Given the description of an element on the screen output the (x, y) to click on. 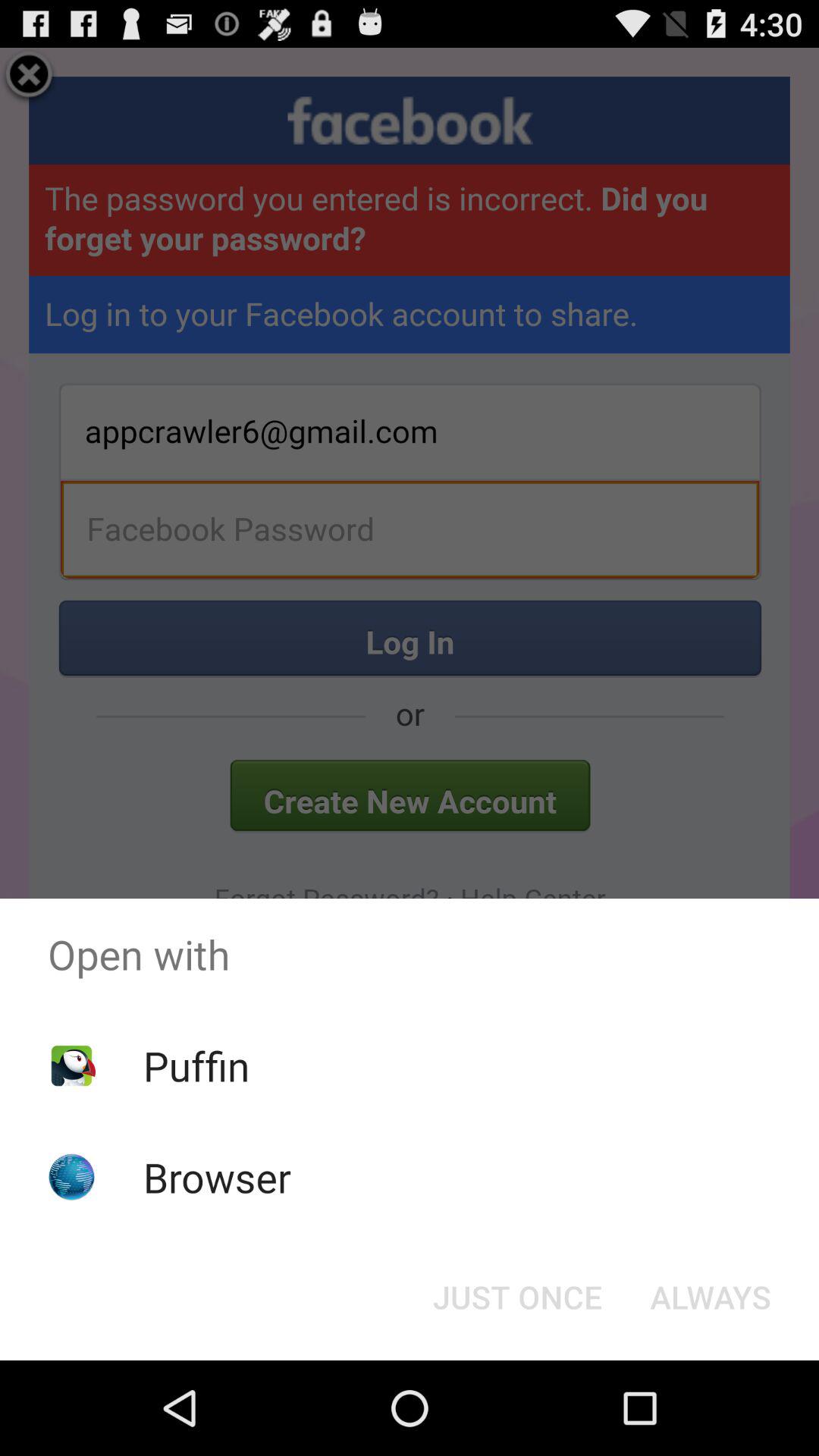
flip to puffin (196, 1065)
